Given the description of an element on the screen output the (x, y) to click on. 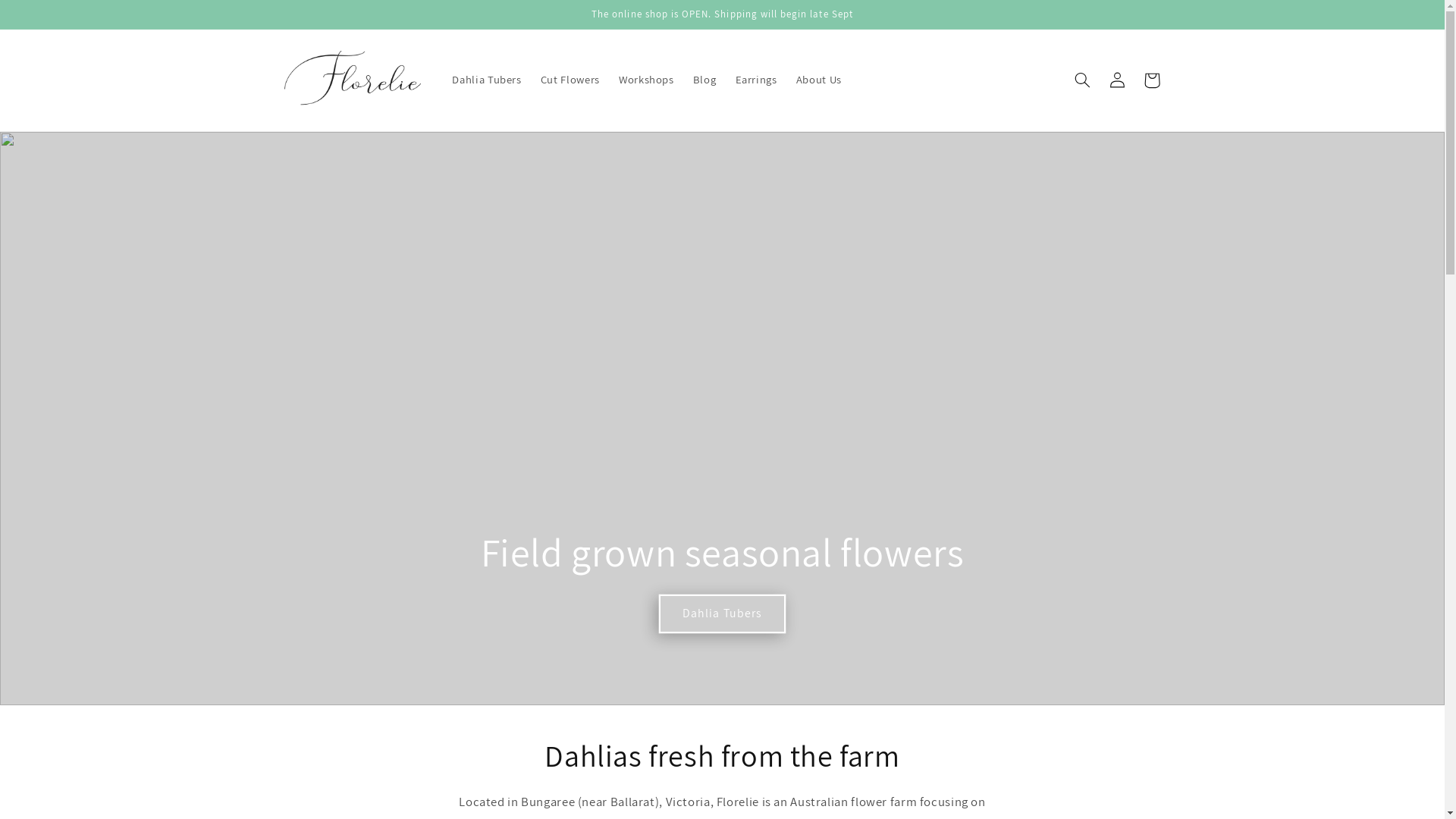
Cut Flowers Element type: text (569, 80)
Earrings Element type: text (755, 80)
Dahlia Tubers Element type: text (722, 613)
Workshops Element type: text (645, 80)
Cart Element type: text (1151, 79)
Dahlia Tubers Element type: text (486, 80)
About Us Element type: text (818, 80)
Log in Element type: text (1116, 79)
Blog Element type: text (704, 80)
